Given the description of an element on the screen output the (x, y) to click on. 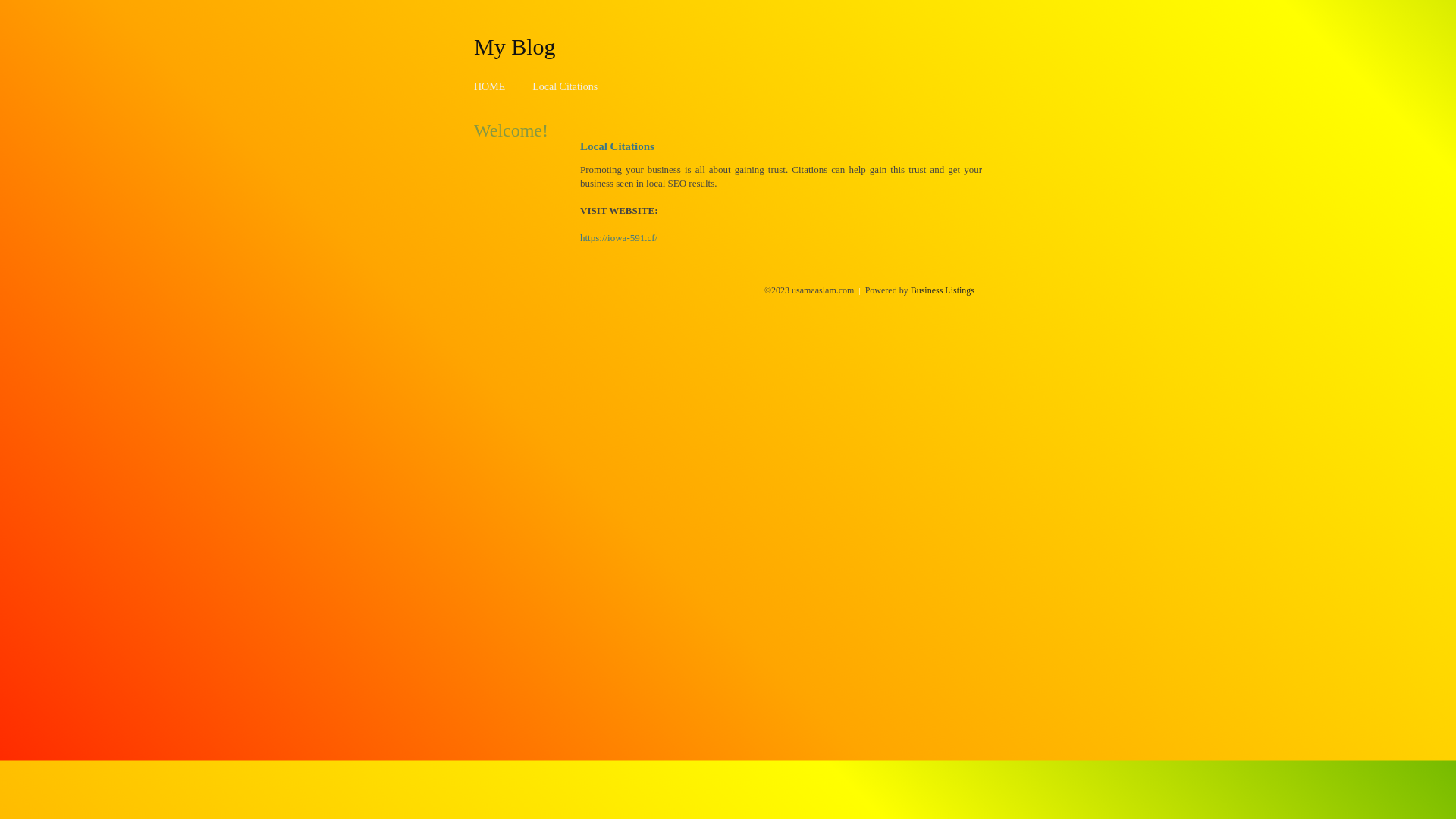
HOME Element type: text (489, 86)
Business Listings Element type: text (942, 290)
Local Citations Element type: text (564, 86)
https://iowa-591.cf/ Element type: text (618, 237)
My Blog Element type: text (514, 46)
